Given the description of an element on the screen output the (x, y) to click on. 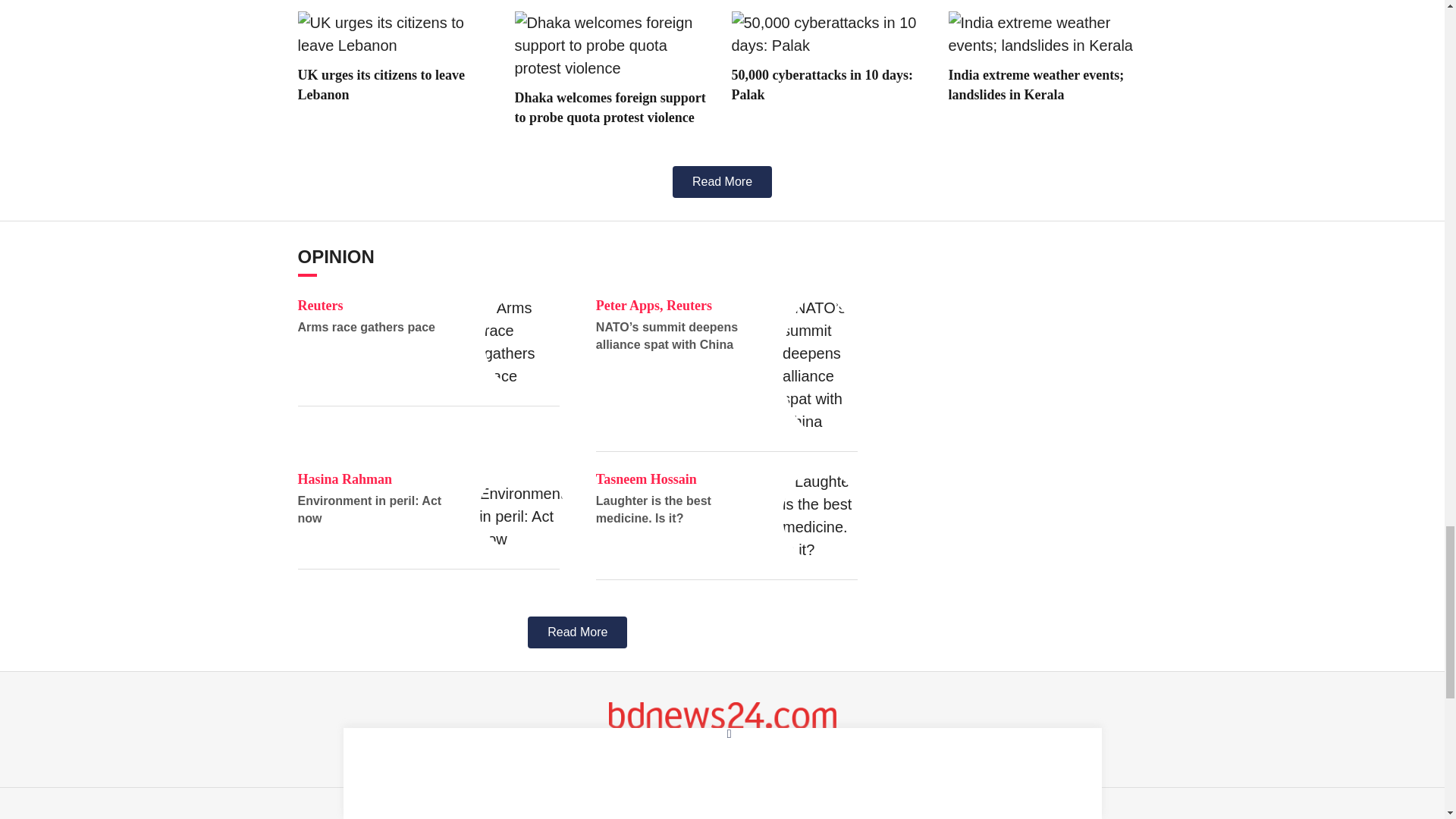
50,000 cyberattacks in 10 days: Palak (830, 33)
UK urges its citizens to leave Lebanon (396, 33)
Environment in peril: Act now (521, 510)
India extreme weather events; landslides in Kerala (1047, 33)
